Given the description of an element on the screen output the (x, y) to click on. 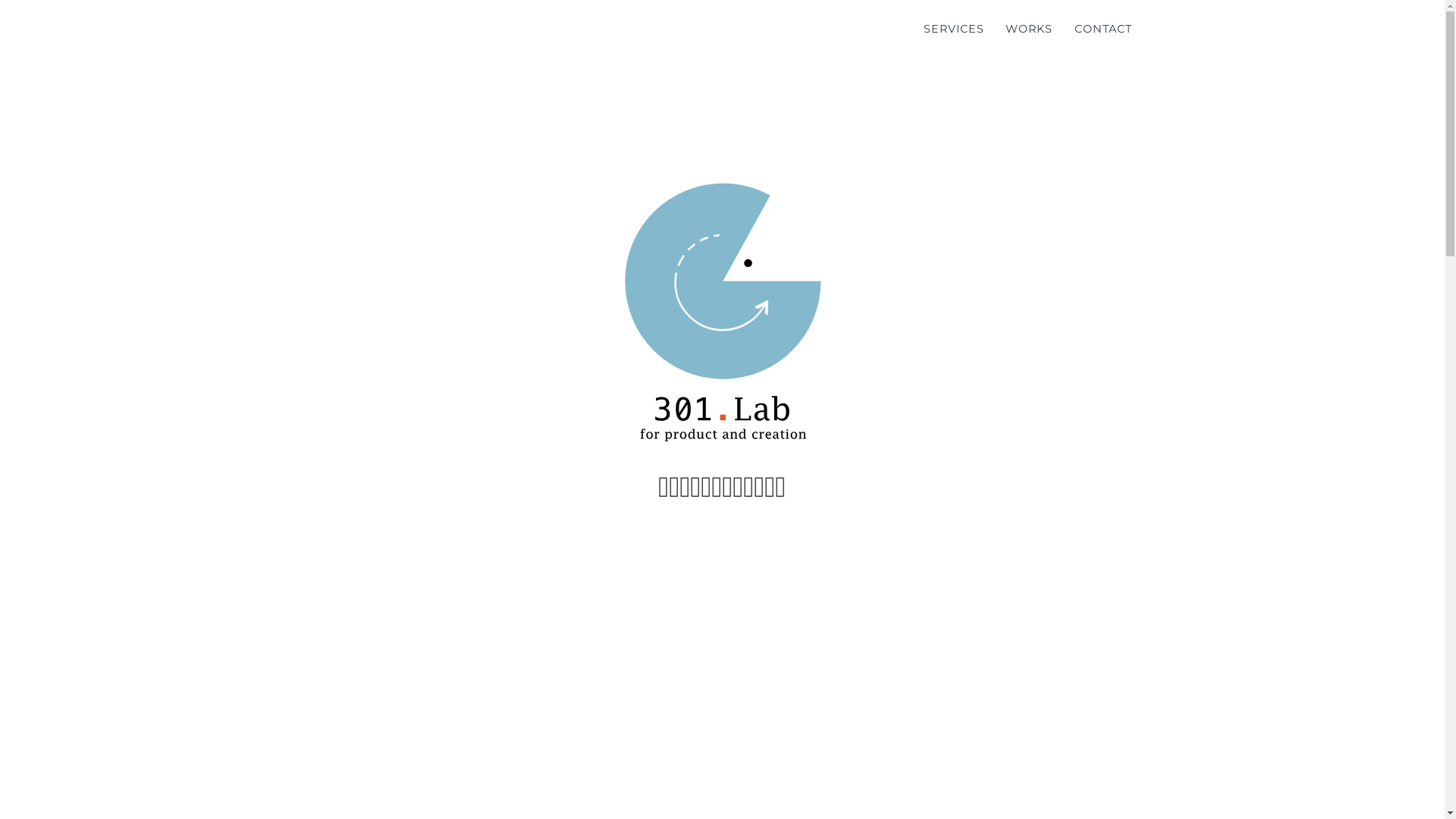
SERVICES Element type: text (953, 28)
CONTACT Element type: text (1103, 28)
WORKS Element type: text (1028, 28)
